Given the description of an element on the screen output the (x, y) to click on. 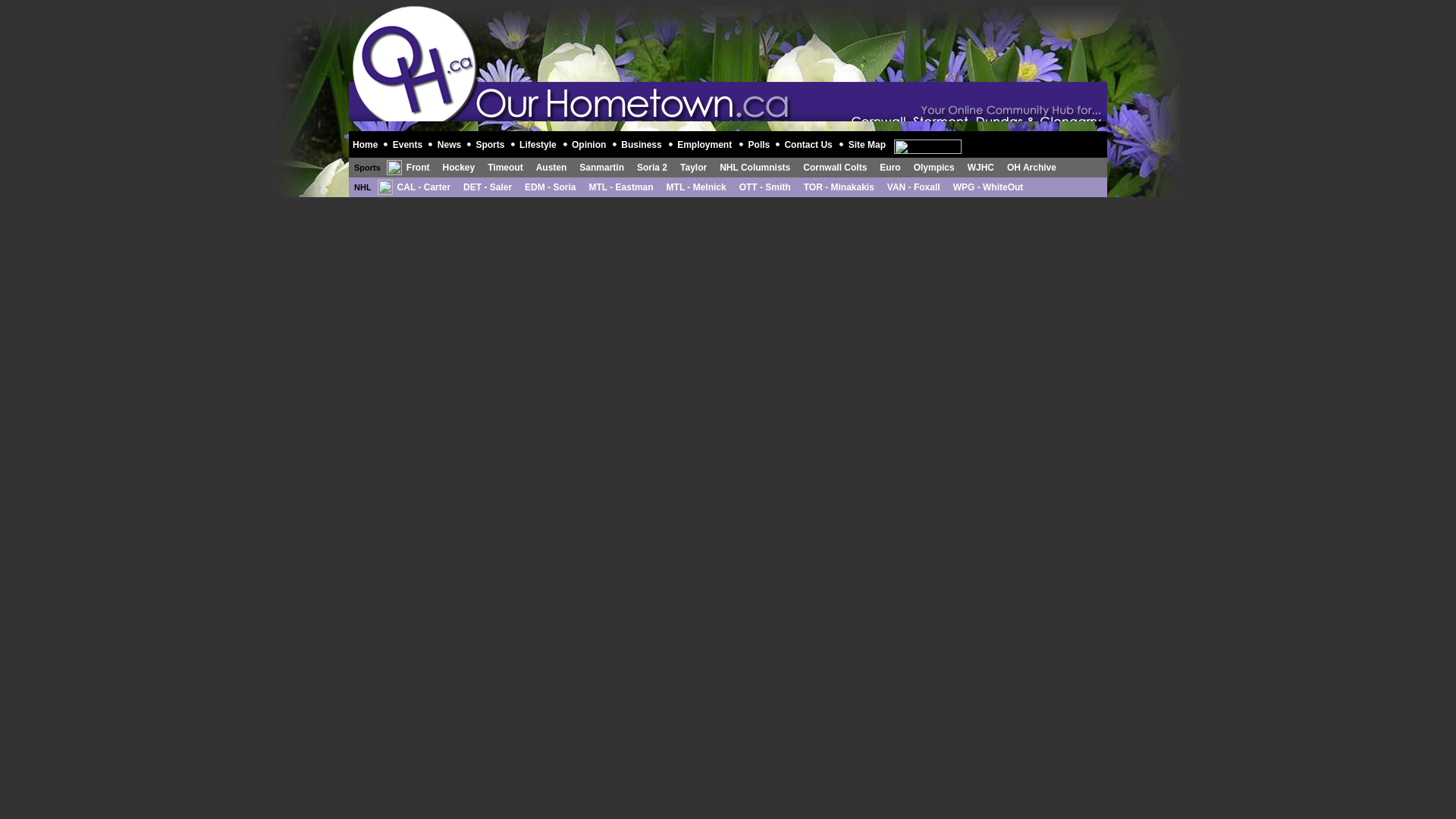
Site Map (868, 143)
EDM - Soria (549, 186)
MTL - Melnick (696, 186)
MTL - Eastman (620, 186)
Soria 2 (651, 166)
OTT - Smith (764, 186)
Cornwall Colts (834, 166)
Euro (889, 166)
NHL Columnists (754, 166)
Events (409, 143)
Lifestyle (539, 143)
CAL - Carter (423, 186)
Polls (759, 143)
Austen (551, 166)
Front (417, 166)
